Given the description of an element on the screen output the (x, y) to click on. 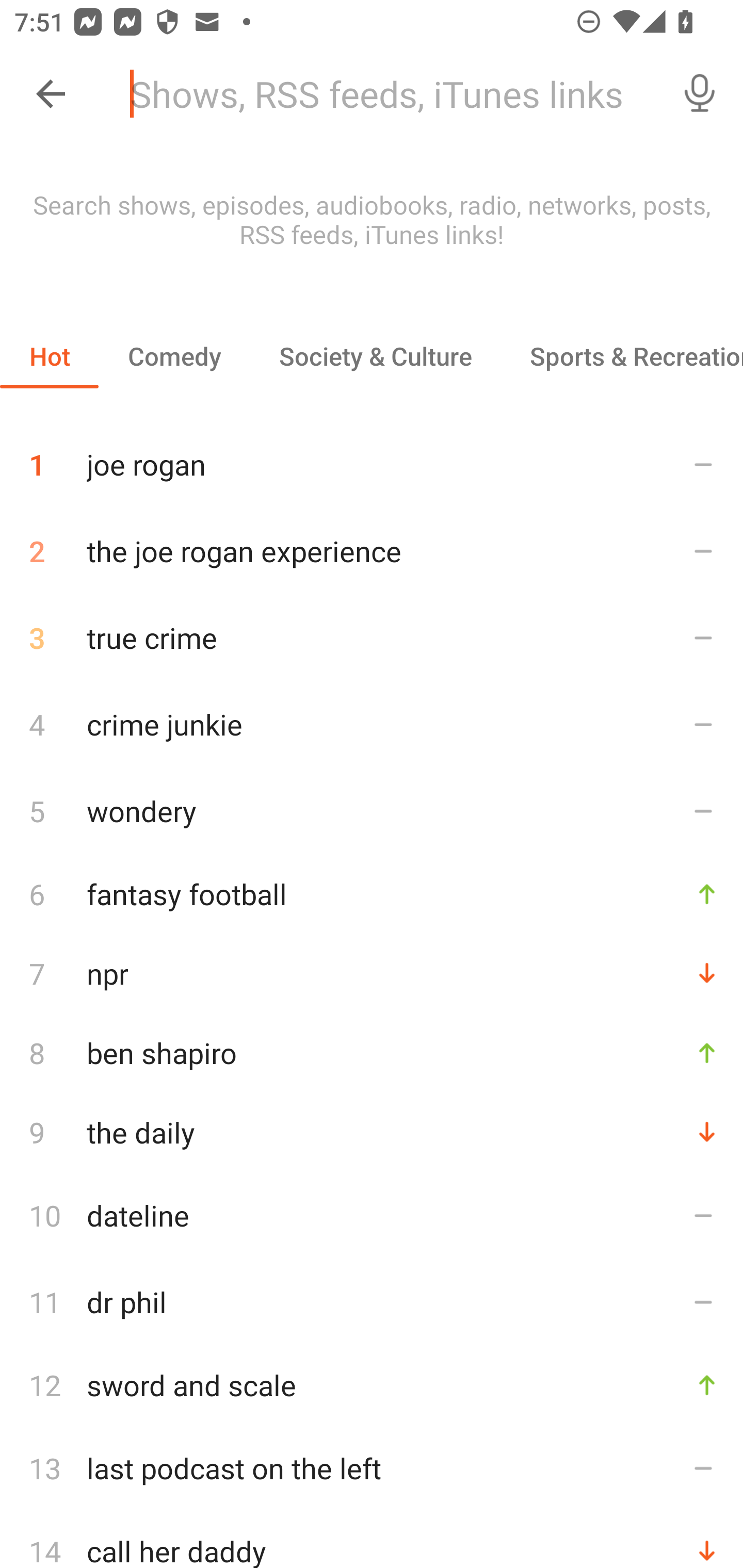
Collapse (50, 93)
Voice Search (699, 93)
Shows, RSS feeds, iTunes links (385, 94)
Hot (49, 355)
Comedy (173, 355)
Society & Culture (374, 355)
Sports & Recreation (621, 355)
1 joe rogan (371, 457)
2 the joe rogan experience (371, 551)
3 true crime (371, 637)
4 crime junkie (371, 723)
5 wondery (371, 810)
6 fantasy football (371, 893)
7 npr (371, 972)
8 ben shapiro (371, 1052)
9 the daily (371, 1131)
10 dateline (371, 1215)
11 dr phil (371, 1302)
12 sword and scale (371, 1385)
13 last podcast on the left (371, 1468)
14 call her daddy (371, 1539)
